Given the description of an element on the screen output the (x, y) to click on. 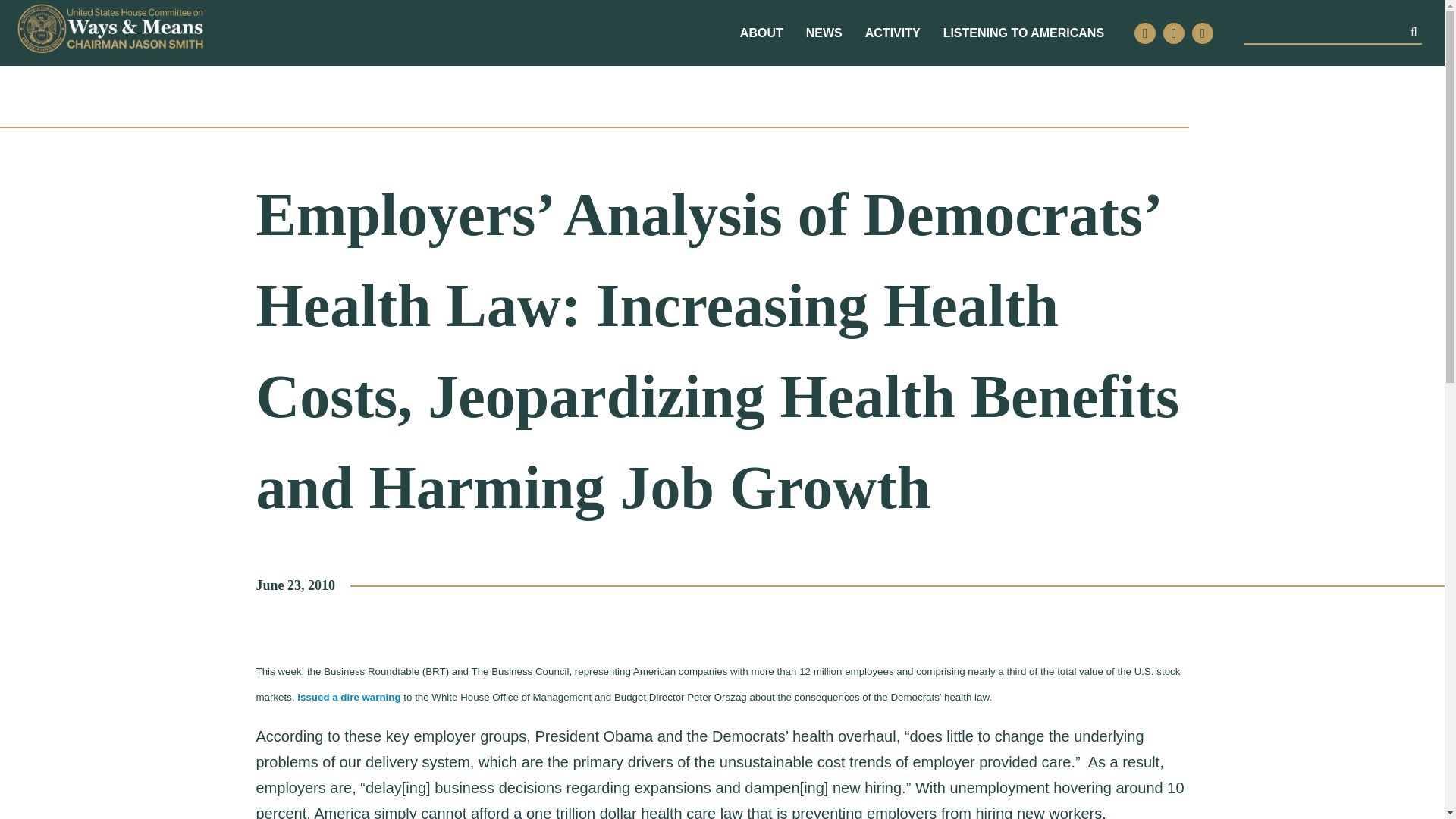
Instagram (1174, 33)
NEWS (824, 33)
issued a dire warning (348, 697)
ABOUT (761, 33)
ACTIVITY (892, 33)
LISTENING TO AMERICANS (1023, 33)
Twitter (1145, 33)
Youtube (1202, 33)
